Given the description of an element on the screen output the (x, y) to click on. 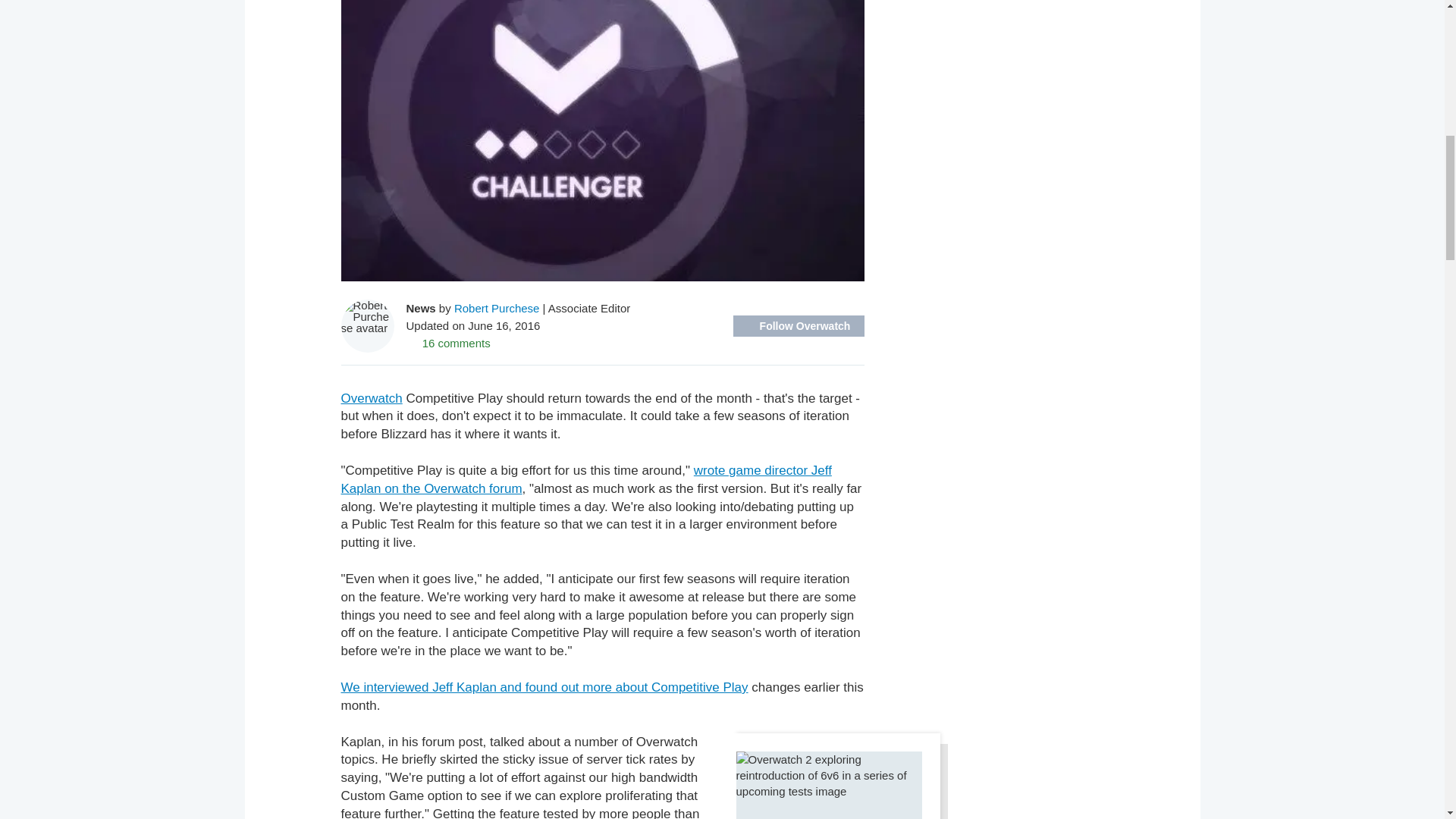
Overwatch (371, 398)
wrote game director Jeff Kaplan on the Overwatch forum (585, 479)
Follow Overwatch (797, 325)
Robert Purchese (497, 308)
16 comments (448, 342)
